Given the description of an element on the screen output the (x, y) to click on. 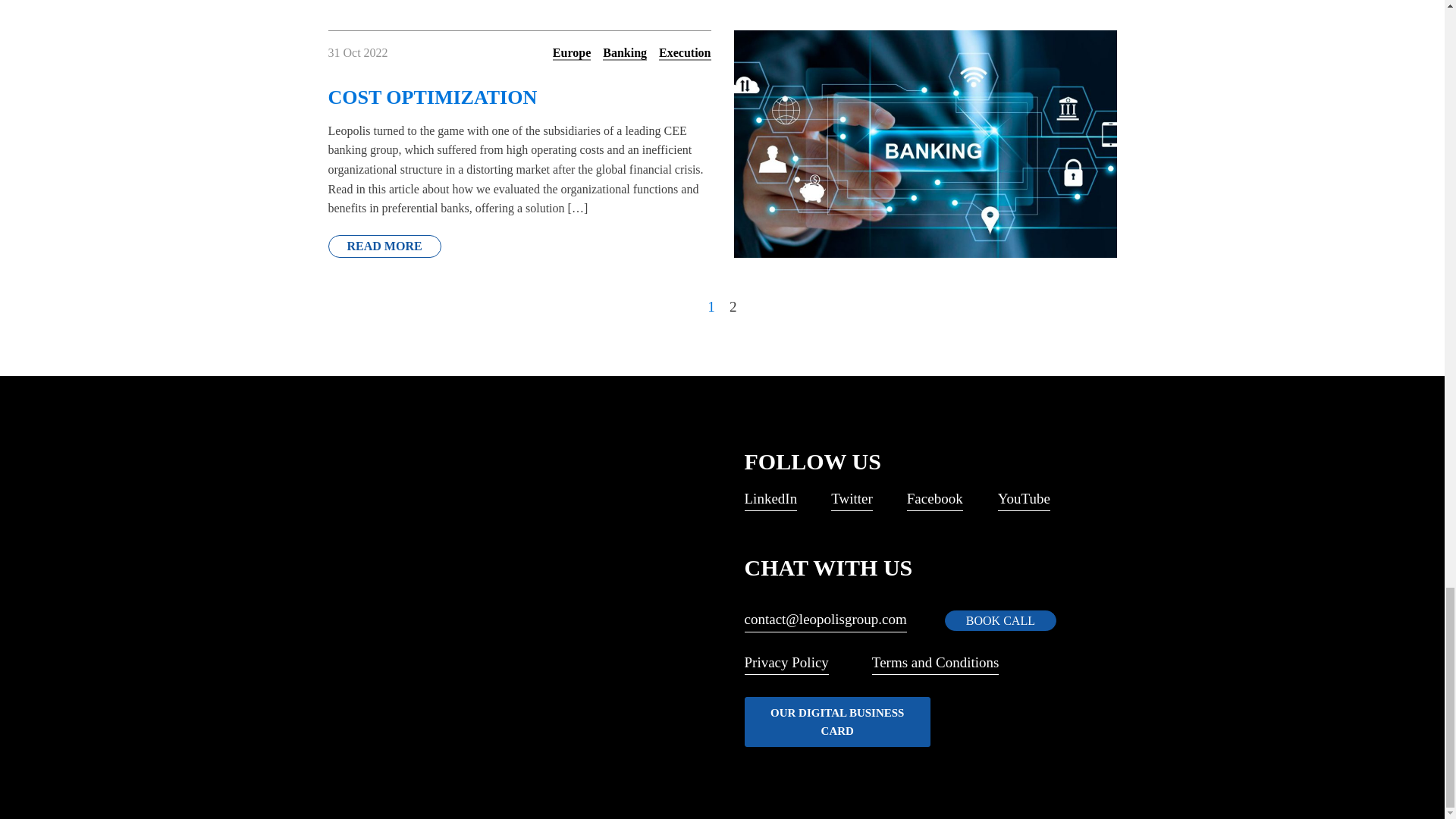
Banking (624, 52)
Europe (572, 52)
